Given the description of an element on the screen output the (x, y) to click on. 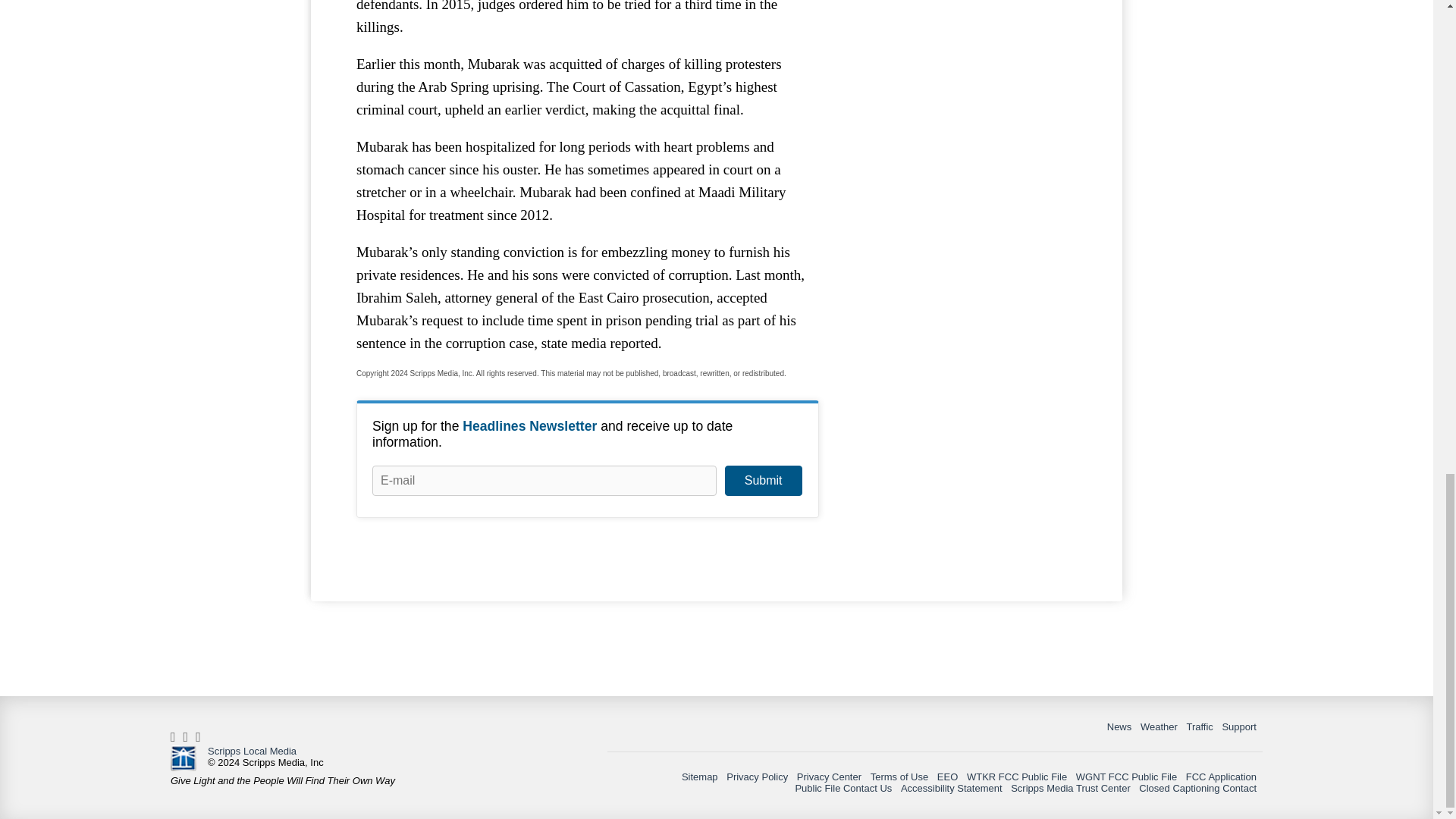
Submit (763, 481)
